Given the description of an element on the screen output the (x, y) to click on. 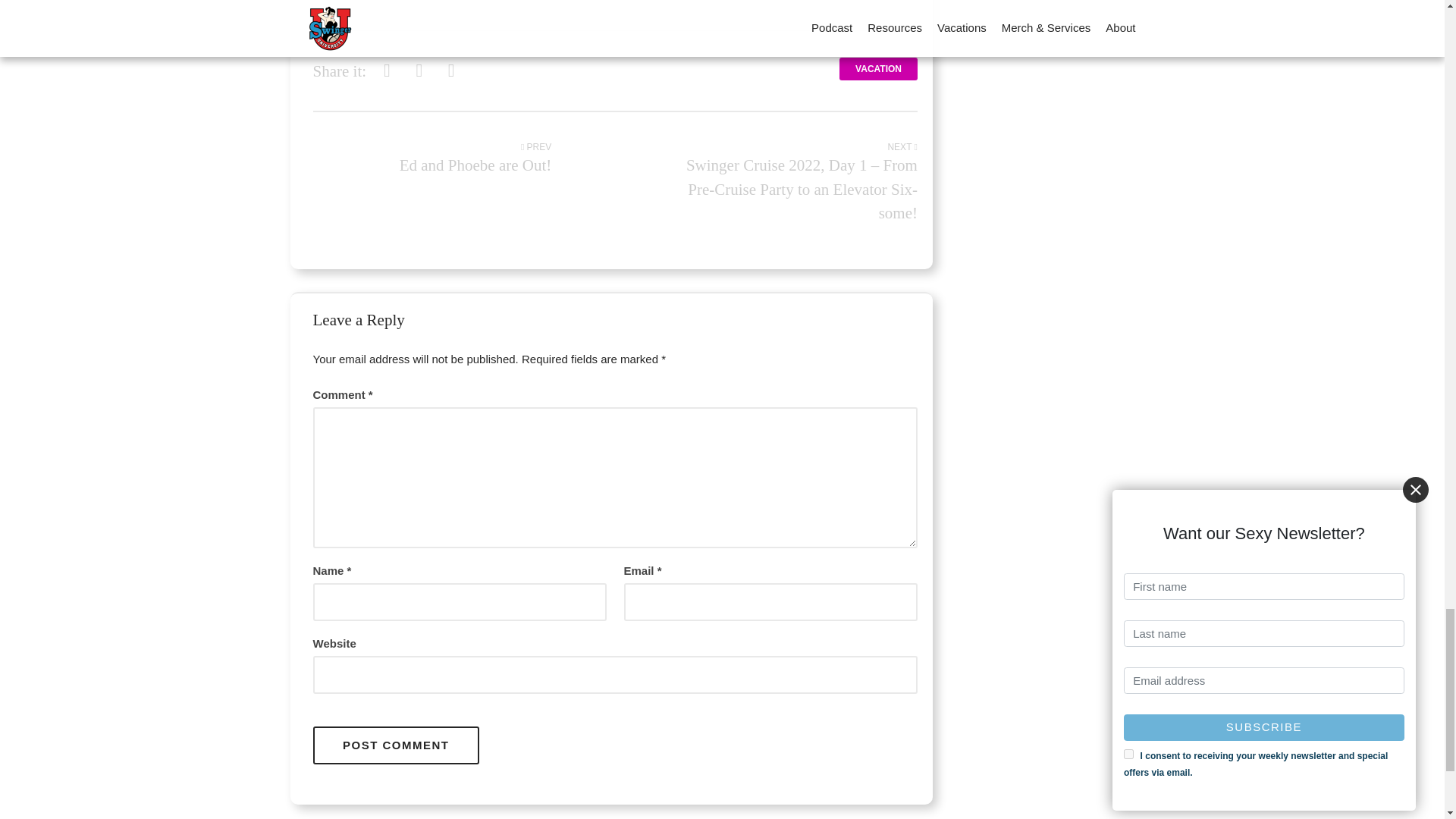
Post Comment (396, 745)
Share via Facebook (386, 70)
Share via Twitter (418, 70)
Share via Pinterest (451, 70)
